Given the description of an element on the screen output the (x, y) to click on. 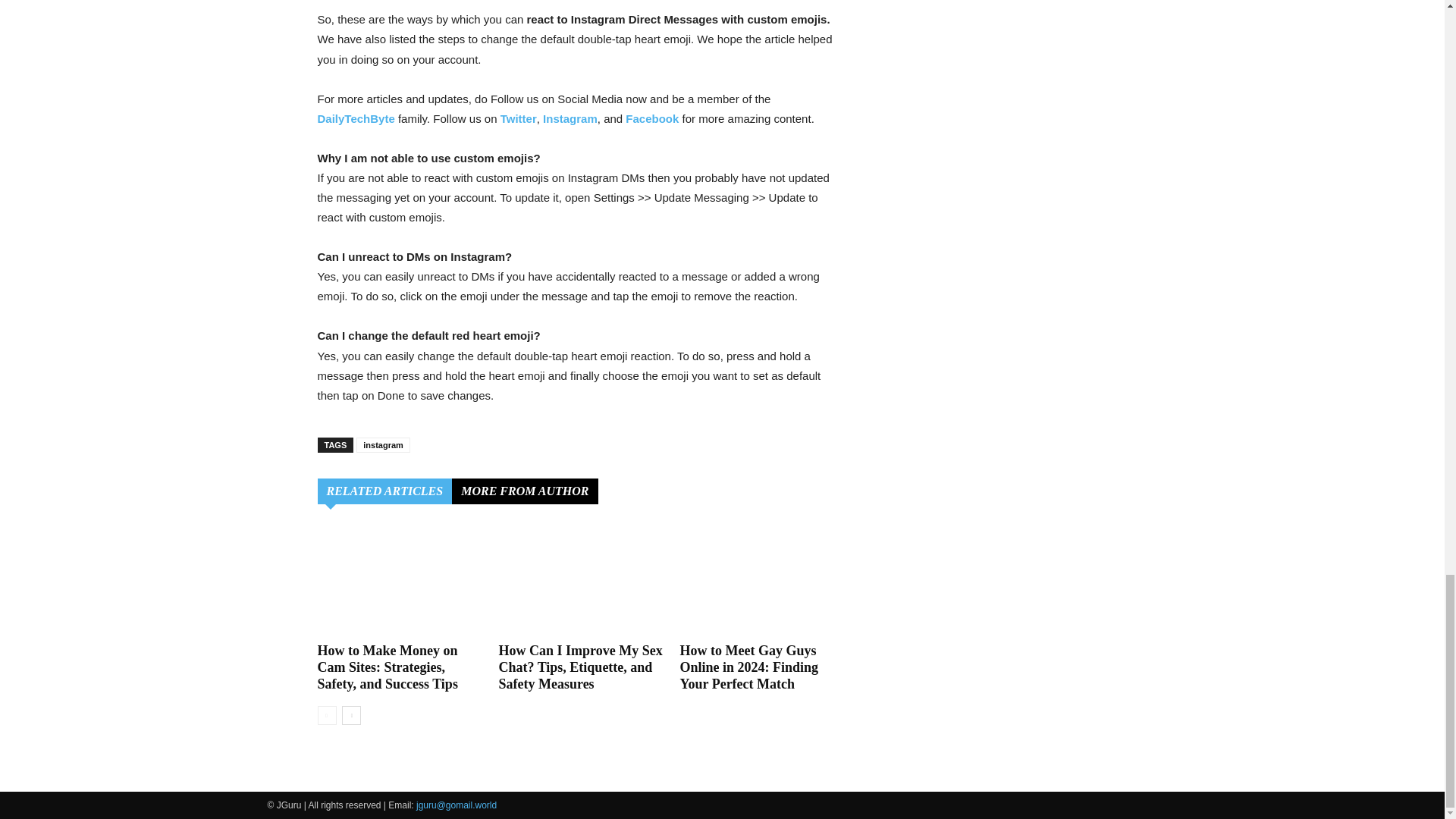
instagram (383, 444)
Twitter (518, 118)
Instagram (569, 118)
DailyTechByte (355, 118)
MORE FROM AUTHOR (523, 491)
Facebook (652, 118)
RELATED ARTICLES (384, 491)
